Given the description of an element on the screen output the (x, y) to click on. 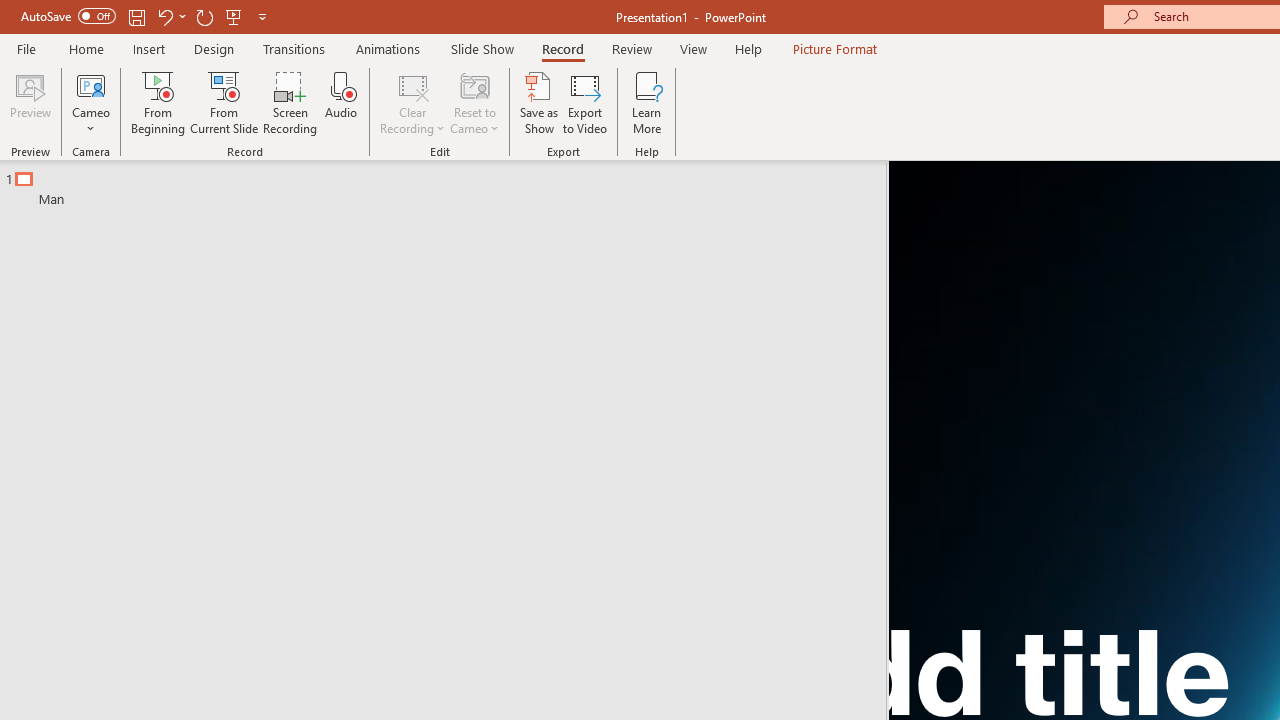
Screen Recording (290, 102)
Redo (204, 15)
More Options (91, 121)
From Current Slide... (224, 102)
Record (562, 48)
Clear Recording (412, 102)
Quick Access Toolbar (145, 16)
Picture Format (834, 48)
Transitions (294, 48)
Cameo (91, 84)
From Beginning... (158, 102)
AutoSave (68, 16)
